Given the description of an element on the screen output the (x, y) to click on. 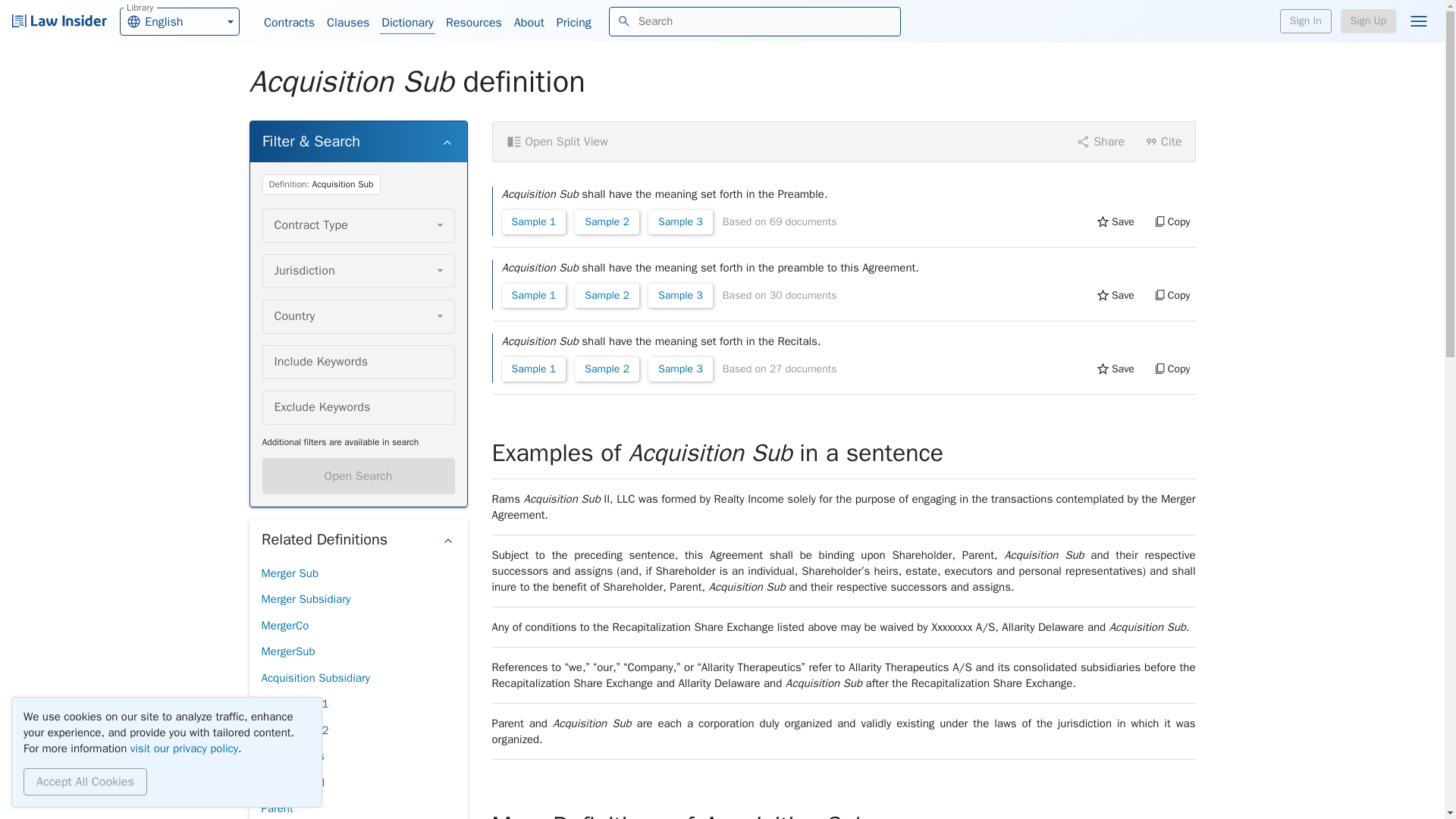
Clauses (347, 23)
Merger Sub (179, 20)
Parent (289, 573)
Open Search (276, 807)
MergerCo (358, 475)
Merger Sub I (284, 625)
Resources (292, 782)
Pricing (473, 23)
Merger Subsidiary (573, 23)
